Given the description of an element on the screen output the (x, y) to click on. 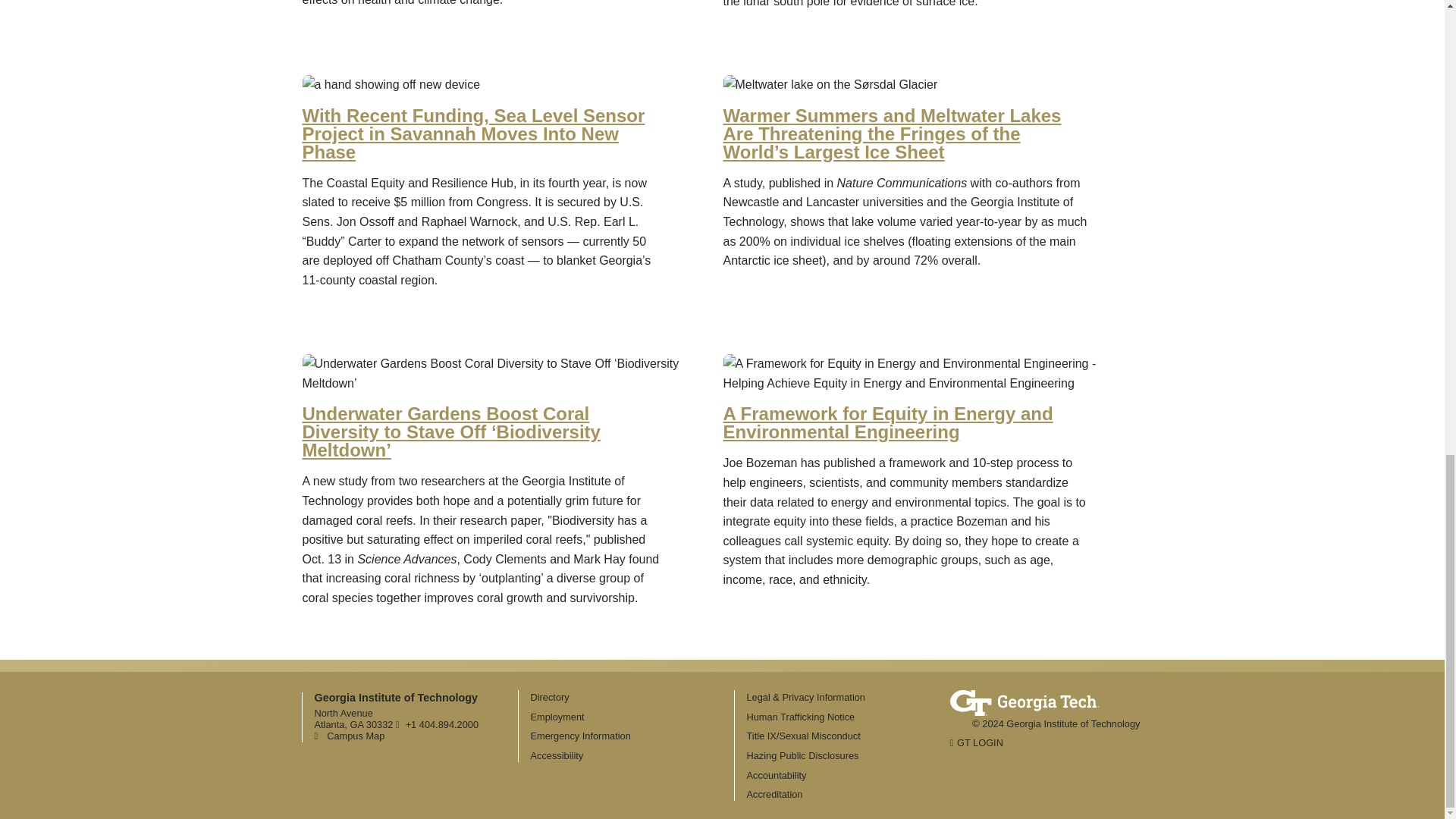
Directory (550, 696)
Human Trafficking Notice (799, 716)
Accountability (775, 775)
Accessibility (557, 755)
Emergency Information (580, 736)
GT LOGIN (976, 742)
Hazing Public Disclosures (802, 755)
Accreditation (773, 794)
Georgia Tech (1024, 699)
